Given the description of an element on the screen output the (x, y) to click on. 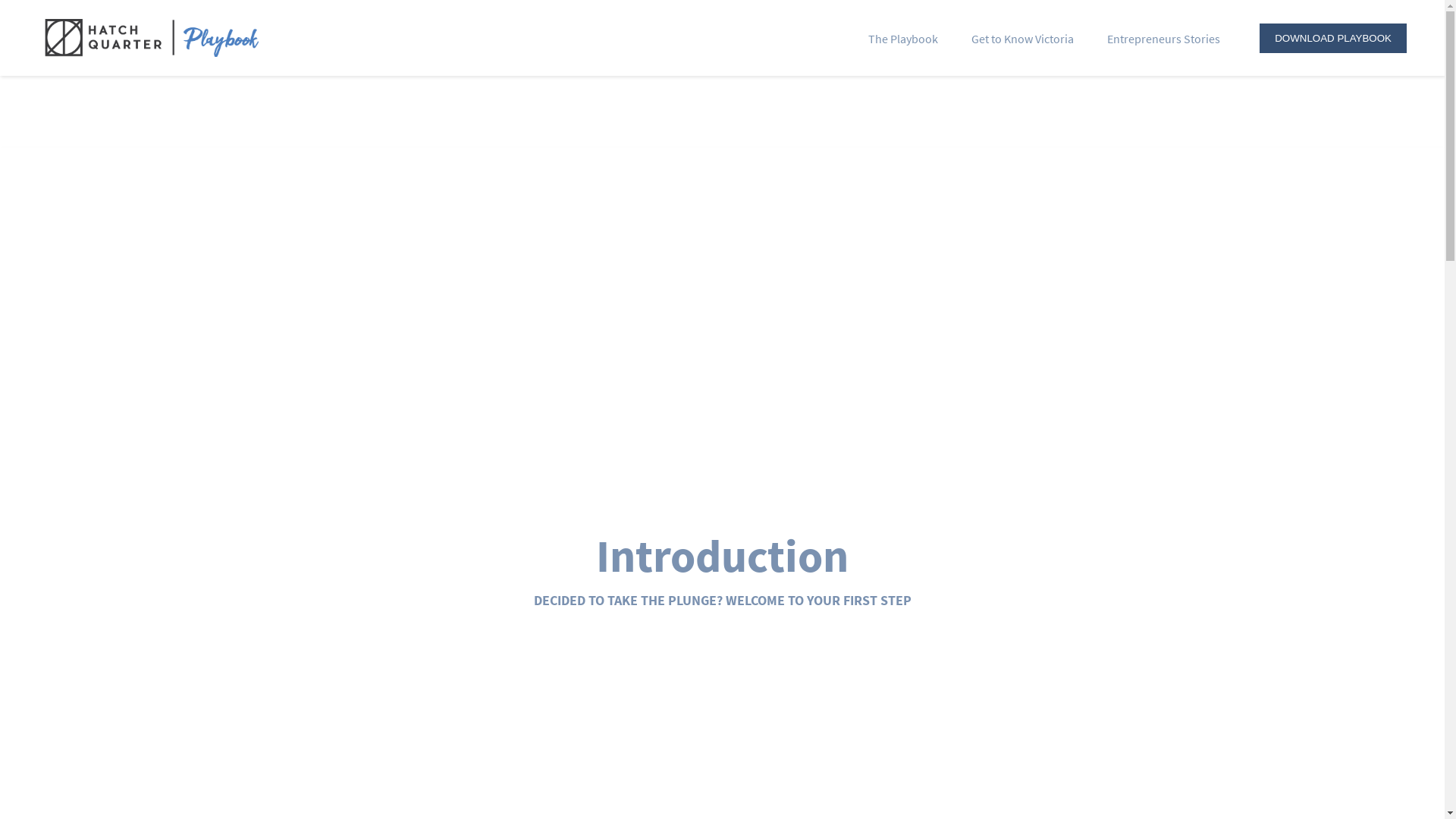
The Playbook Element type: text (902, 40)
DOWNLOAD PLAYBOOK Element type: text (1332, 37)
Get to Know Victoria Element type: text (1022, 40)
Entrepreneurs Stories Element type: text (1163, 40)
